Given the description of an element on the screen output the (x, y) to click on. 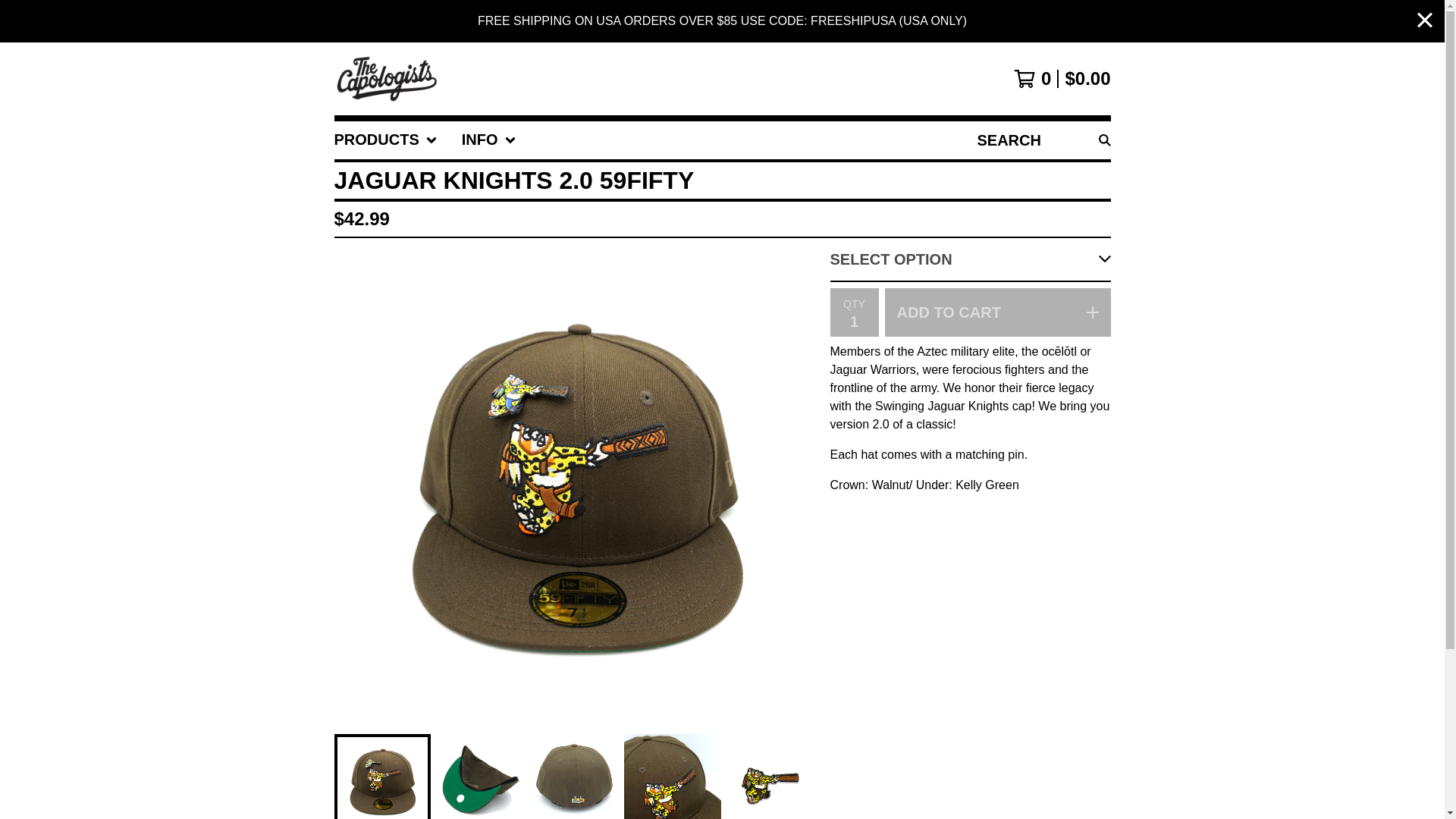
Home (387, 78)
INFO (488, 139)
PRODUCTS (384, 139)
View cart (1061, 78)
1 (853, 321)
